Given the description of an element on the screen output the (x, y) to click on. 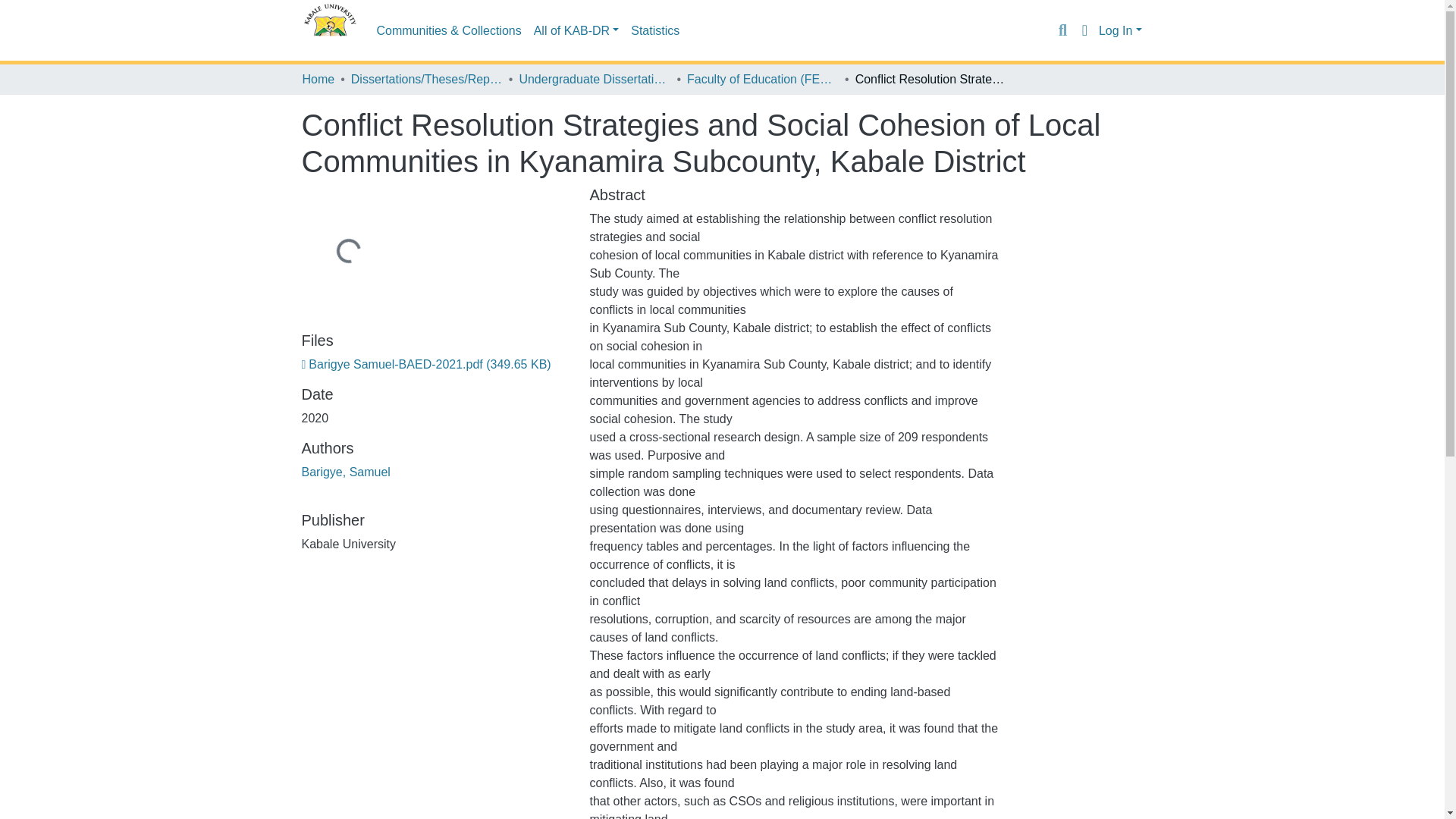
Statistics (654, 30)
Search (1061, 30)
Barigye, Samuel (345, 472)
Language switch (1084, 30)
Log In (1119, 30)
Home (317, 79)
All of KAB-DR (576, 30)
Undergraduate Dissertations (593, 79)
Statistics (654, 30)
